Given the description of an element on the screen output the (x, y) to click on. 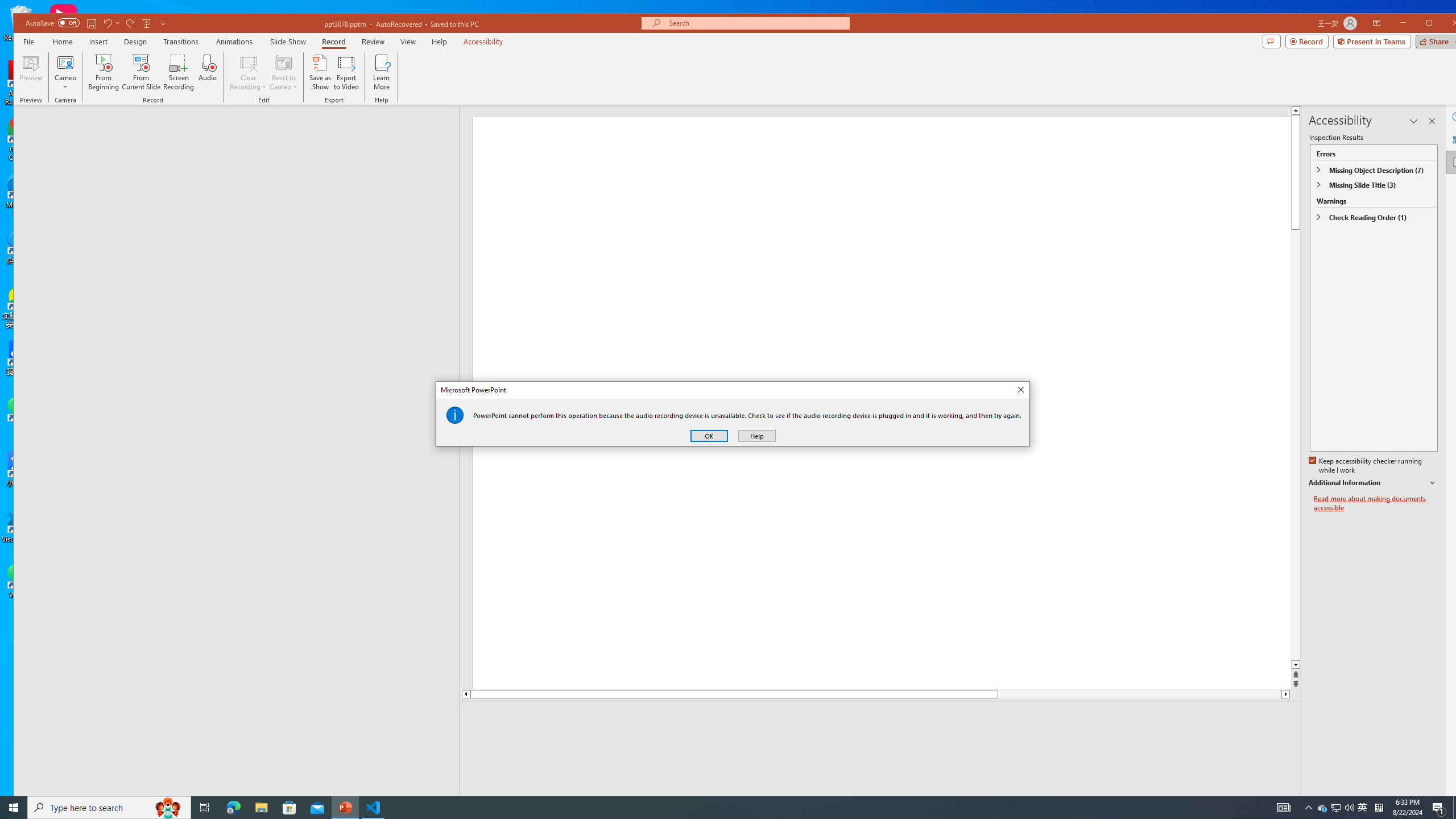
Task View (204, 807)
Slide Show Next On (1253, 802)
File Explorer (261, 807)
Save as Show (320, 72)
Preview (30, 72)
Read more about making documents accessible (1375, 502)
